Given the description of an element on the screen output the (x, y) to click on. 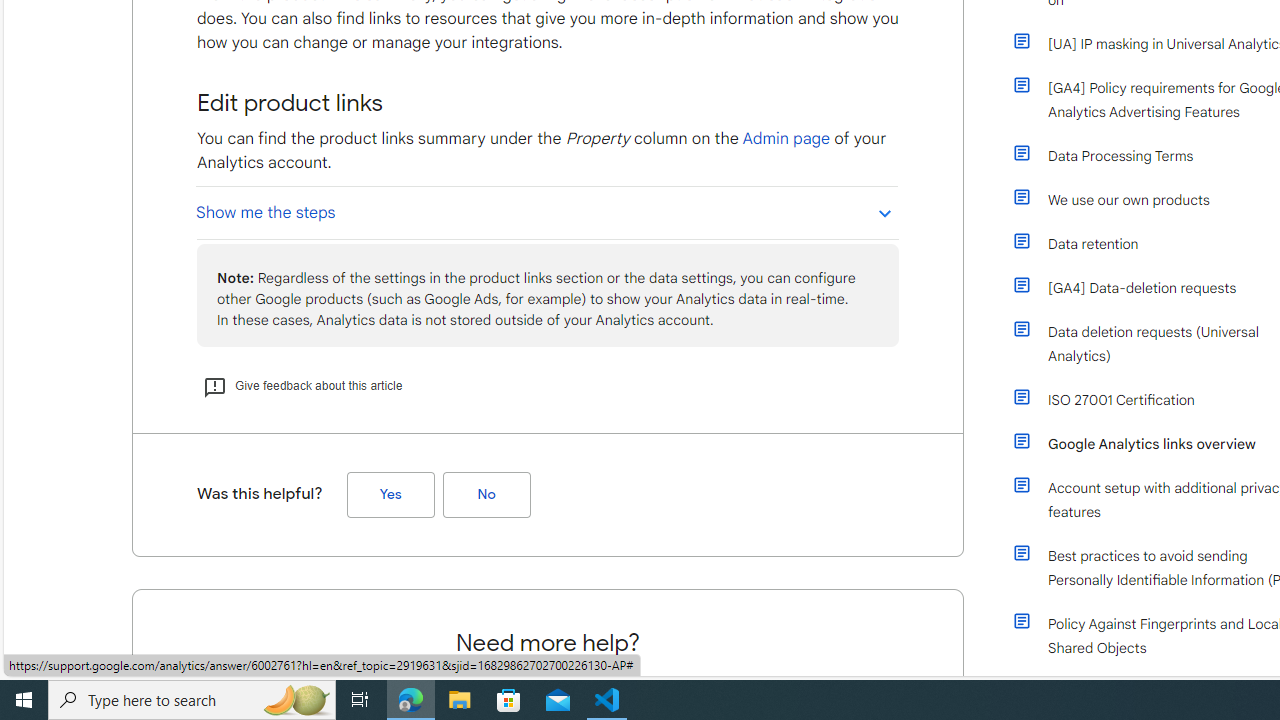
Show me the steps (546, 212)
No (Was this helpful?) (486, 494)
Give feedback about this article (303, 385)
Yes (Was this helpful?) (390, 494)
Class: article (1021, 620)
Admin page (786, 138)
